Given the description of an element on the screen output the (x, y) to click on. 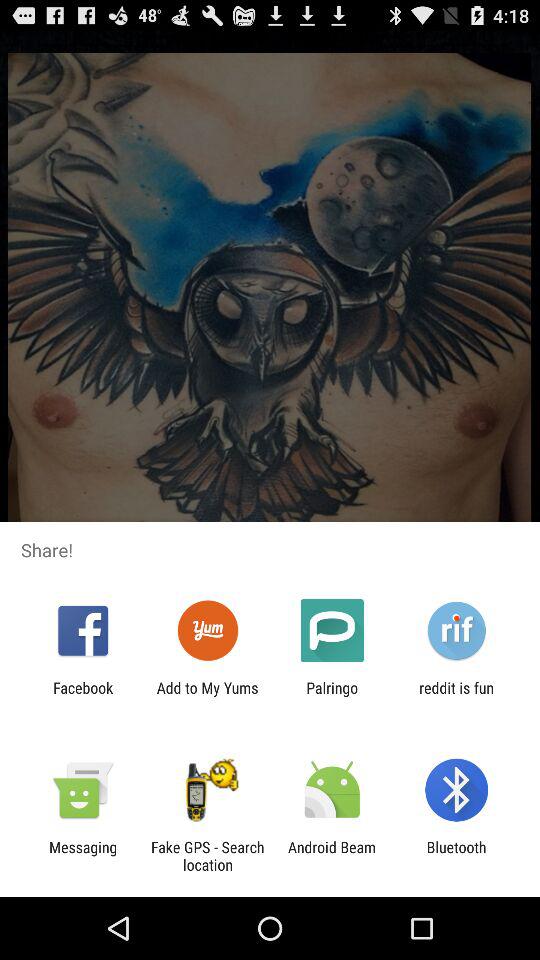
click the app next to the fake gps search item (83, 856)
